Given the description of an element on the screen output the (x, y) to click on. 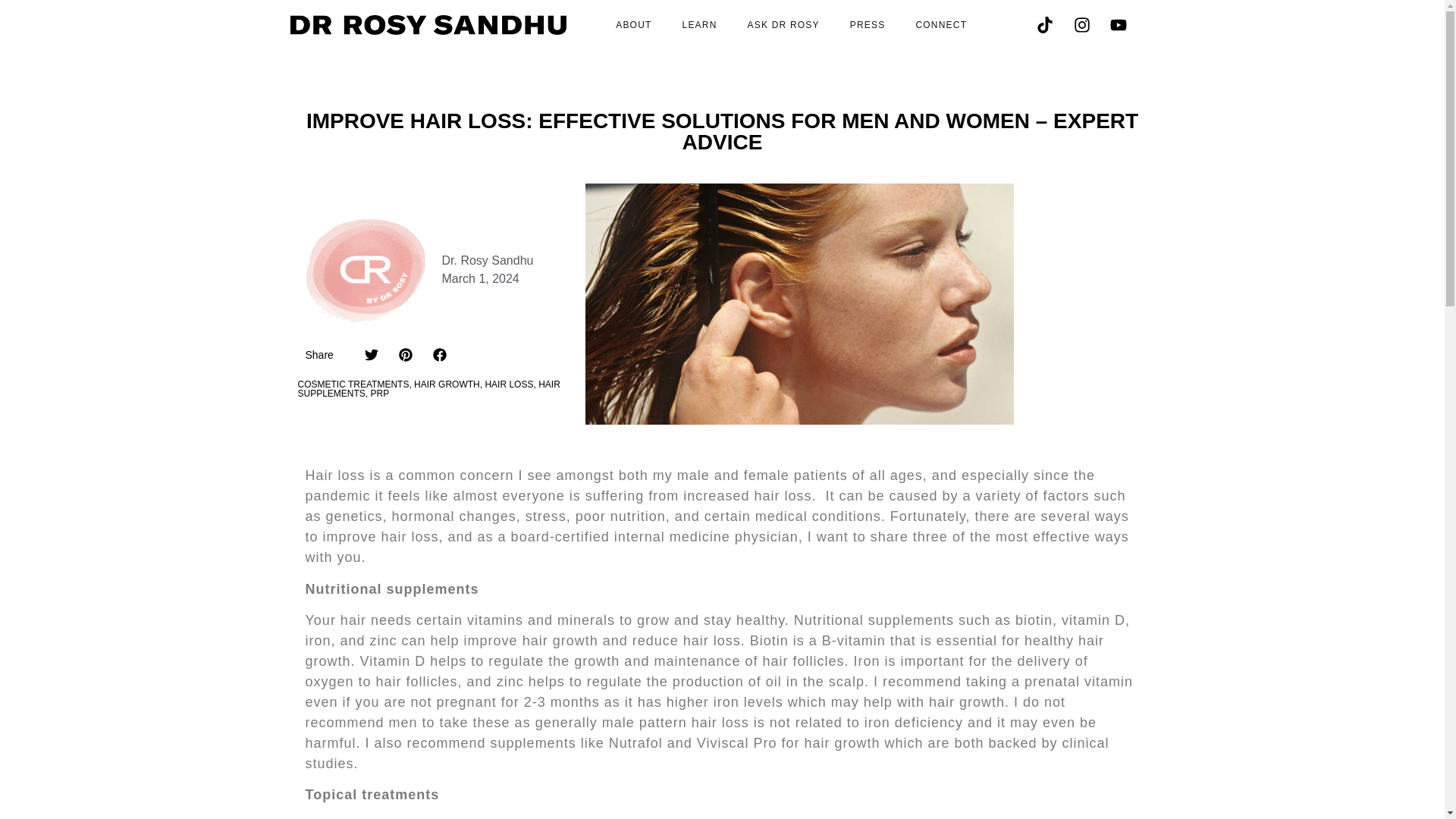
ASK DR ROSY (783, 24)
Dr. Rosy Sandhu (486, 260)
PRESS (867, 24)
PRP (380, 393)
ABOUT (632, 24)
HAIR LOSS (508, 384)
CONNECT (940, 24)
March 1, 2024 (479, 279)
HAIR GROWTH (446, 384)
HAIR SUPPLEMENTS (428, 388)
LEARN (699, 24)
COSMETIC TREATMENTS (353, 384)
